Given the description of an element on the screen output the (x, y) to click on. 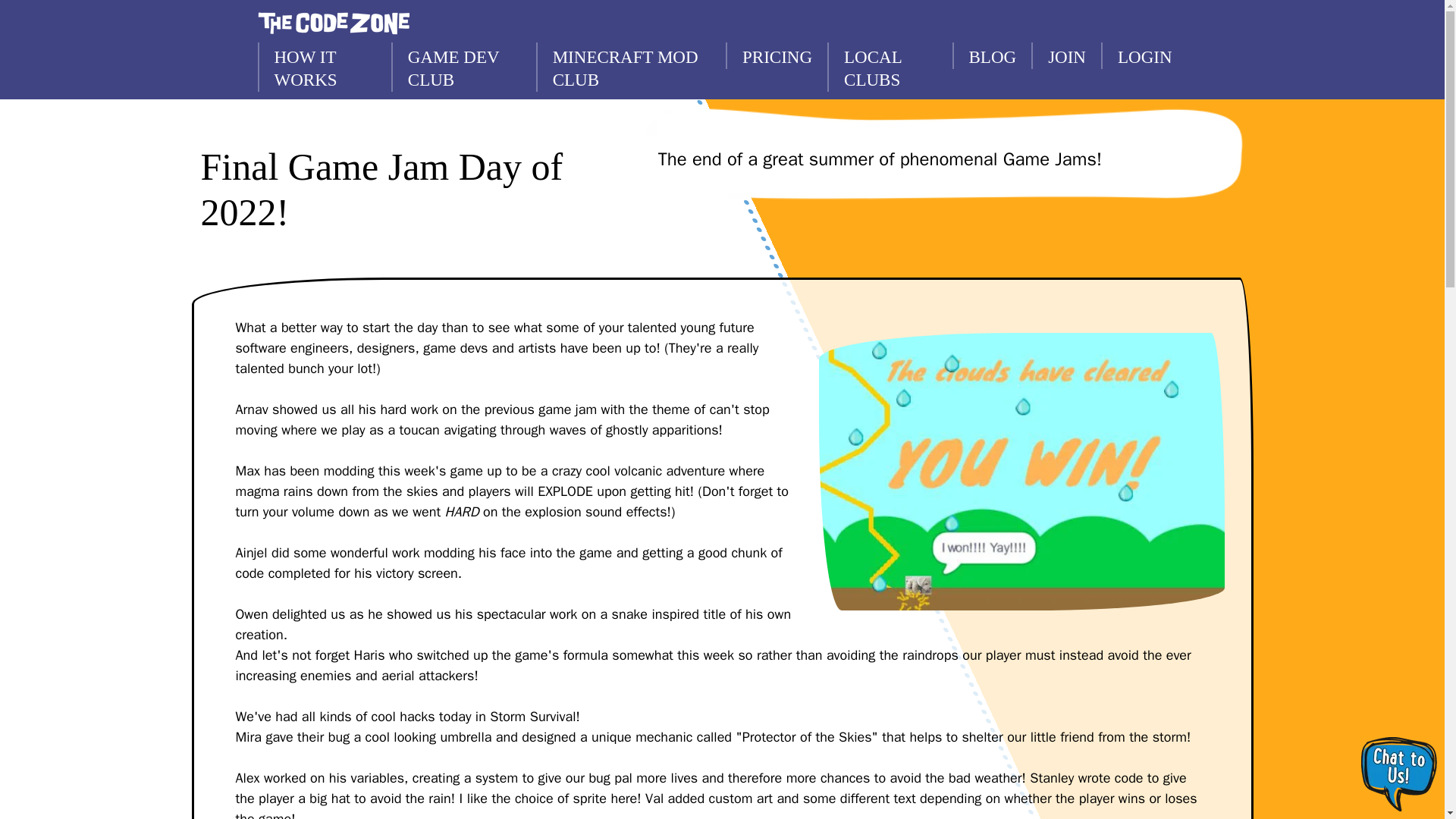
LOGIN (1144, 55)
MINECRAFT MOD CLUB (630, 66)
LOCAL CLUBS (889, 66)
JOIN (1065, 55)
HOW IT WORKS (324, 66)
PRICING (776, 55)
GAME DEV CLUB (463, 66)
BLOG (992, 55)
